Given the description of an element on the screen output the (x, y) to click on. 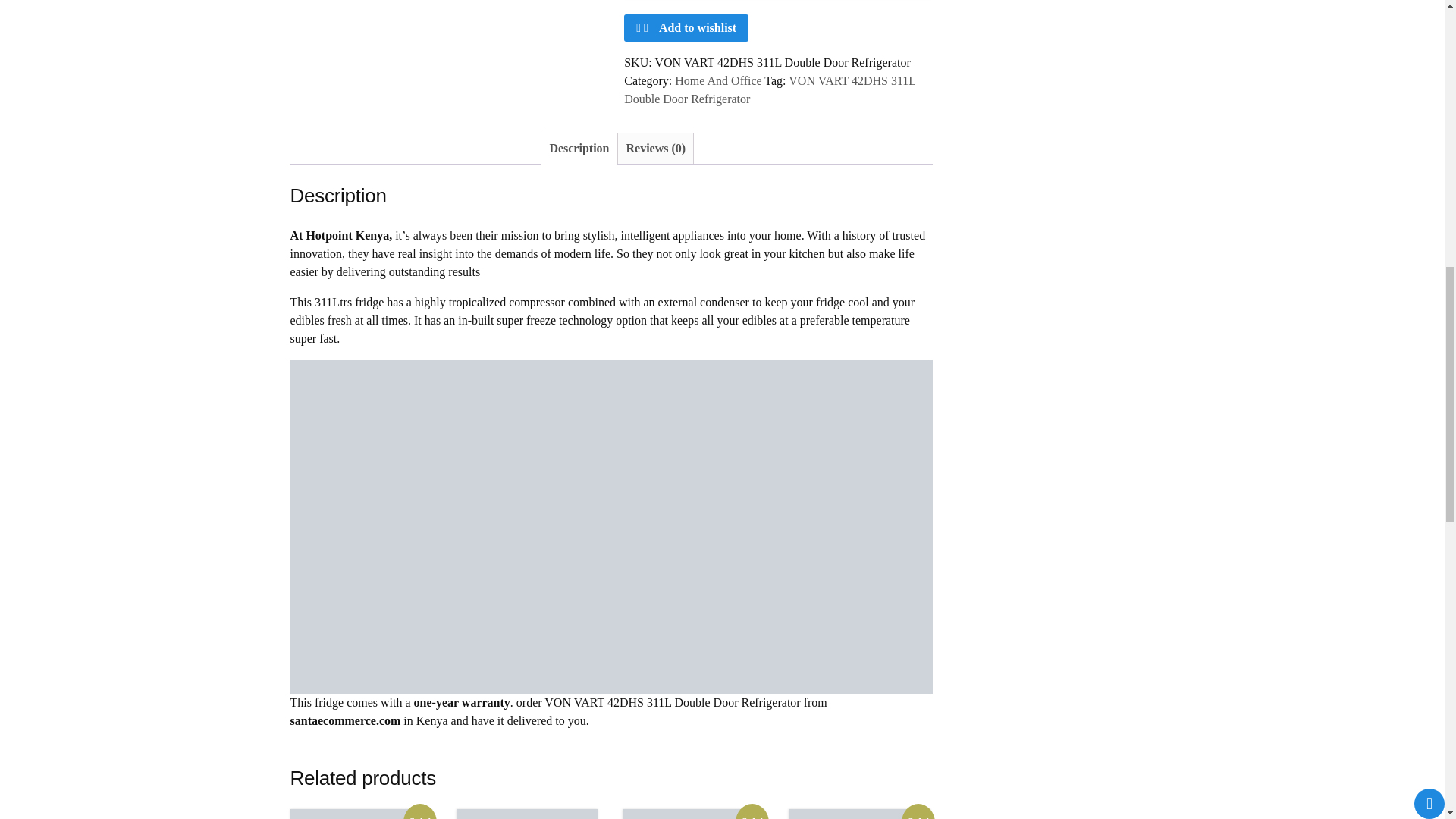
Description (578, 148)
Add to wishlist (686, 27)
VON VART 42DHS 311L Double Door Refrigerator (359, 814)
Home And Office (769, 89)
